Given the description of an element on the screen output the (x, y) to click on. 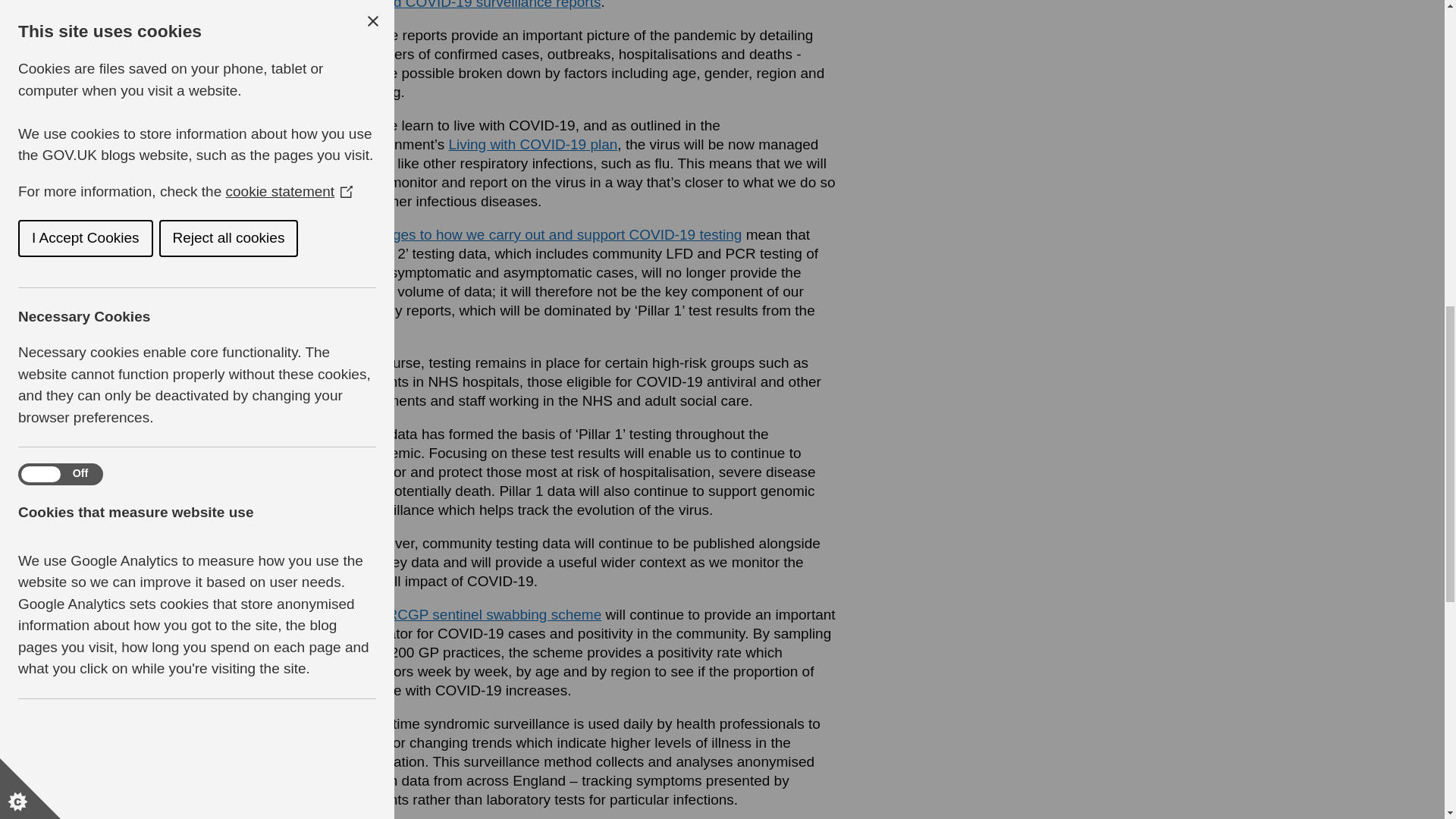
weekly national flu and COVID-19 surveillance reports (593, 4)
RCGP sentinel swabbing scheme (494, 614)
Changes to how we carry out and support COVID-19 testing (549, 234)
Living with COVID-19 plan (532, 144)
